Given the description of an element on the screen output the (x, y) to click on. 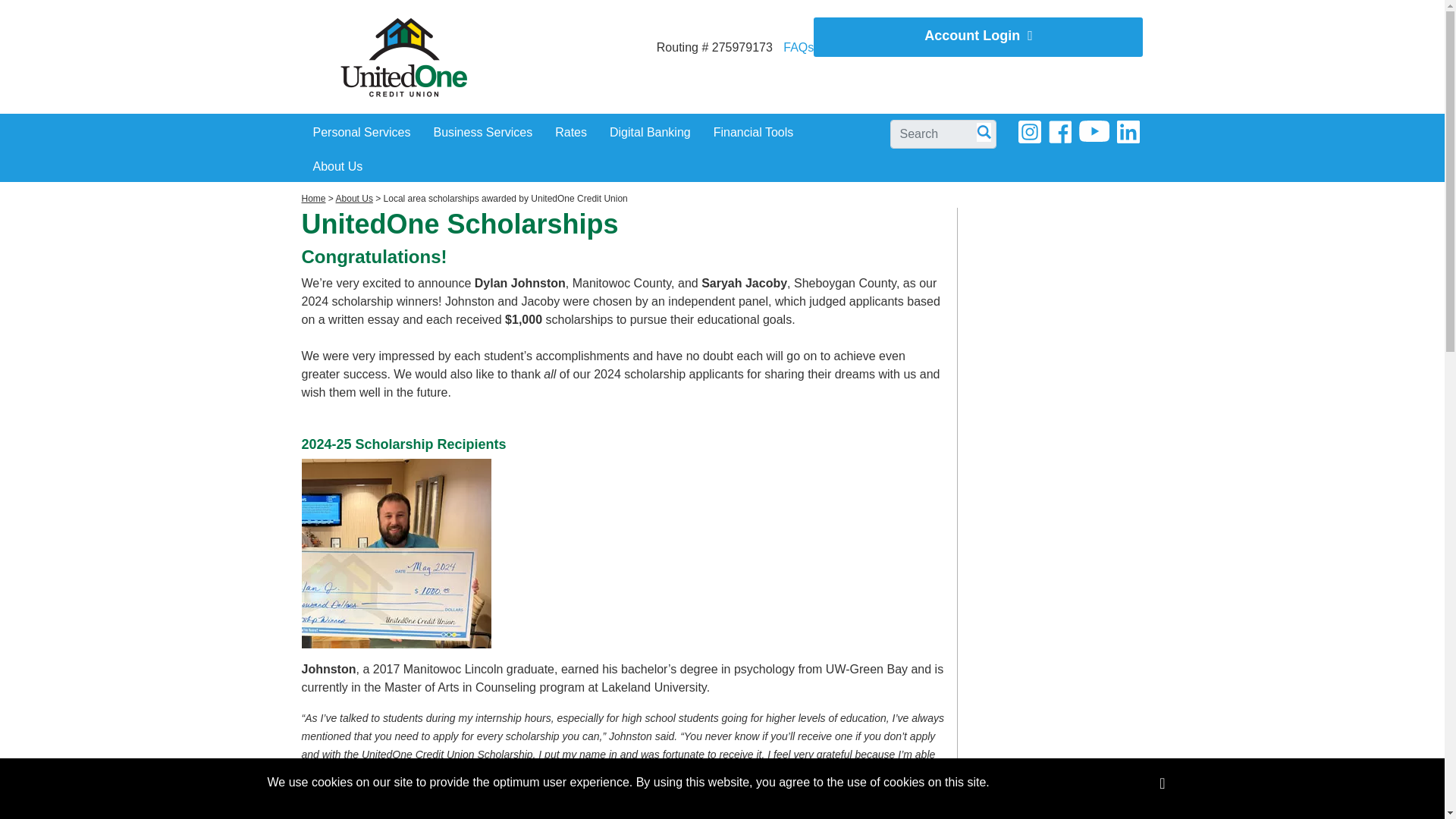
UnitedOne Credit Union (403, 57)
